Given the description of an element on the screen output the (x, y) to click on. 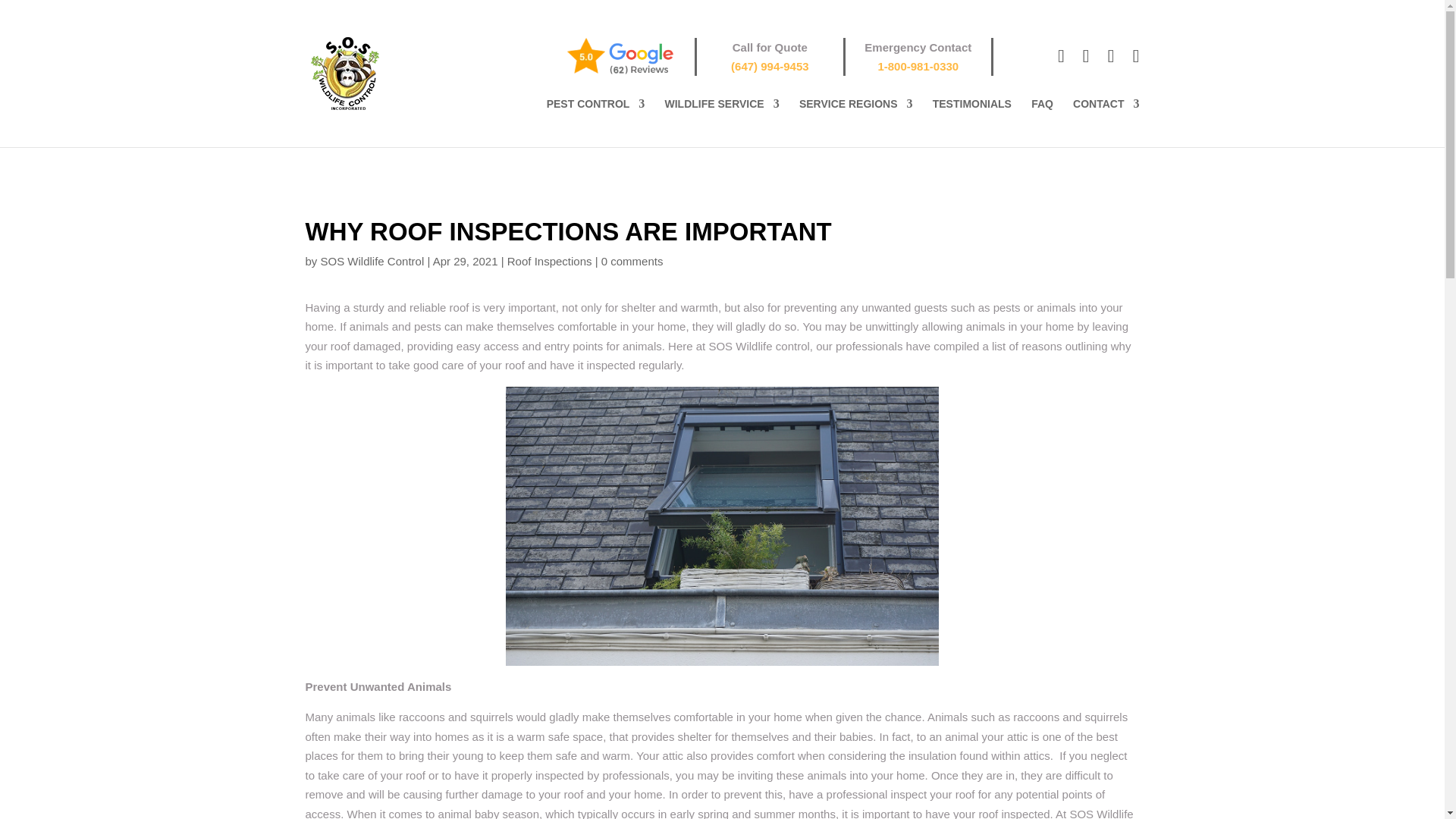
1-800-981-0330 (917, 65)
Posts by SOS Wildlife Control (372, 260)
WILDLIFE SERVICE (721, 122)
SERVICE REGIONS (855, 122)
PEST CONTROL (596, 122)
